Given the description of an element on the screen output the (x, y) to click on. 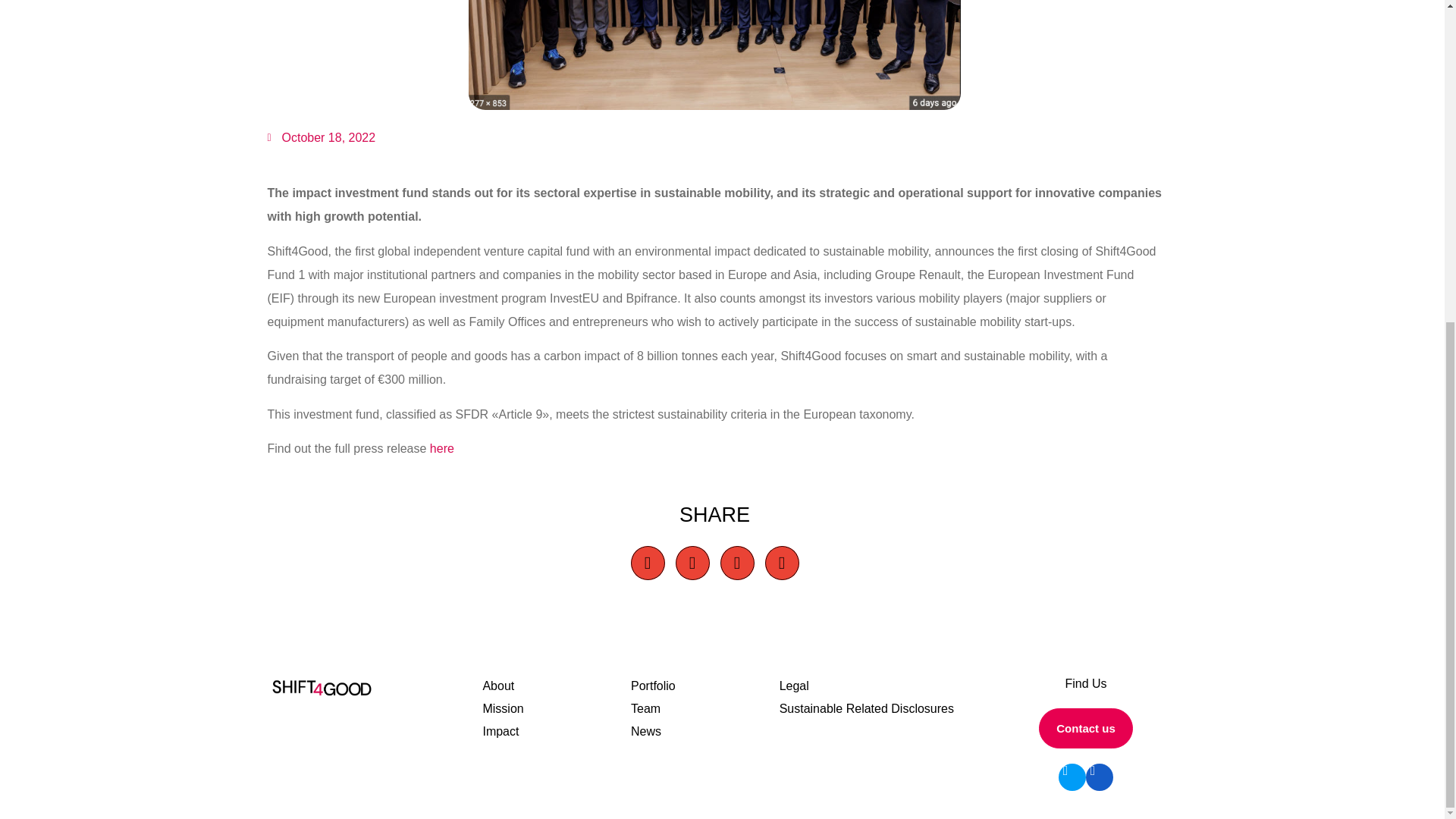
Mission (555, 708)
About (555, 685)
Legal (886, 685)
October 18, 2022 (320, 137)
Team (704, 708)
Contact us (1085, 728)
Impact (555, 731)
News (704, 731)
here (441, 448)
Sustainable Related Disclosures (886, 708)
Portfolio (704, 685)
